Given the description of an element on the screen output the (x, y) to click on. 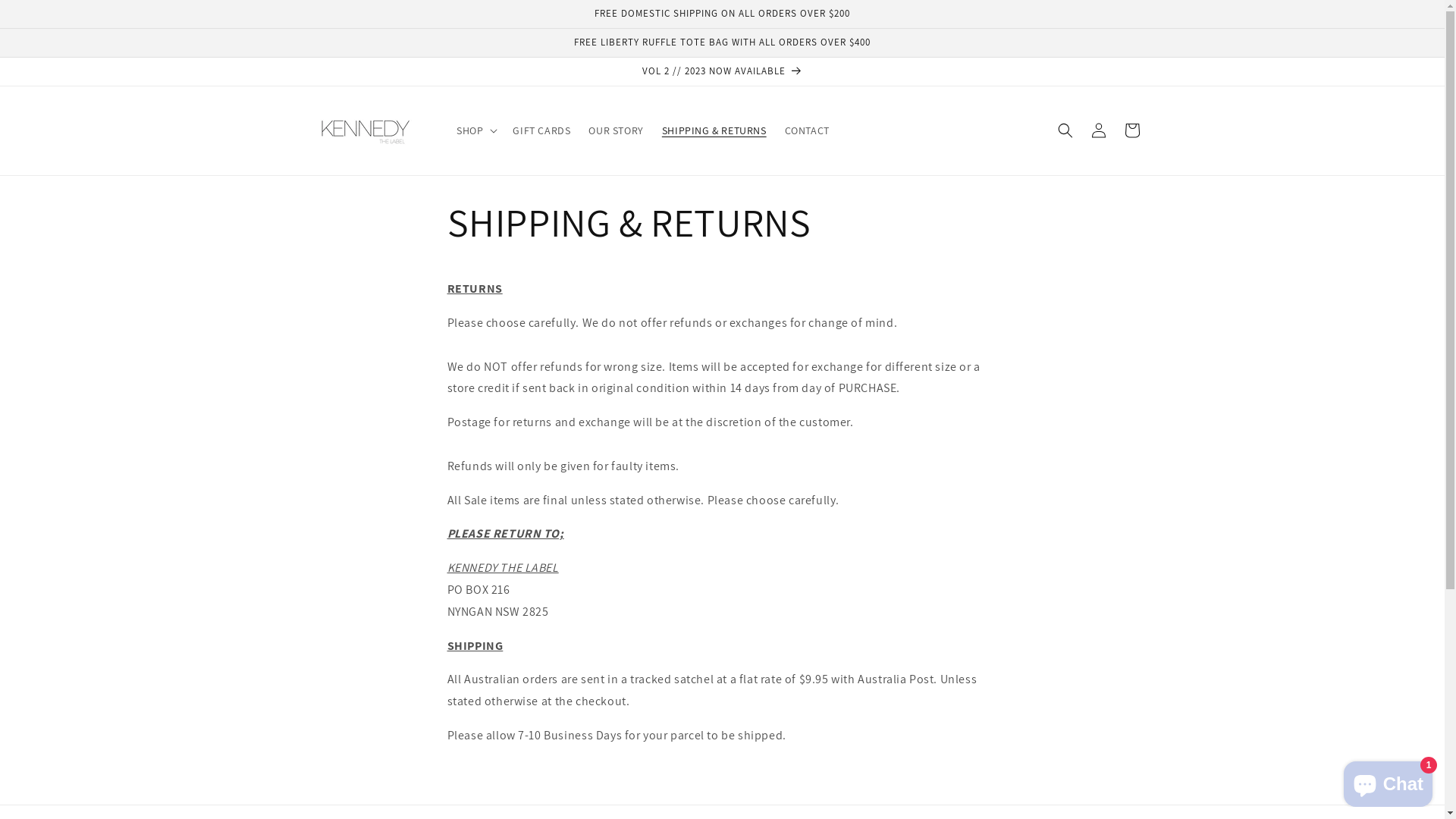
Log in Element type: text (1097, 130)
GIFT CARDS Element type: text (541, 130)
Cart Element type: text (1131, 130)
Shopify online store chat Element type: hover (1388, 780)
VOL 2 // 2023 NOW AVAILABLE Element type: text (722, 71)
CONTACT Element type: text (806, 130)
SHIPPING & RETURNS Element type: text (713, 130)
OUR STORY Element type: text (615, 130)
